Given the description of an element on the screen output the (x, y) to click on. 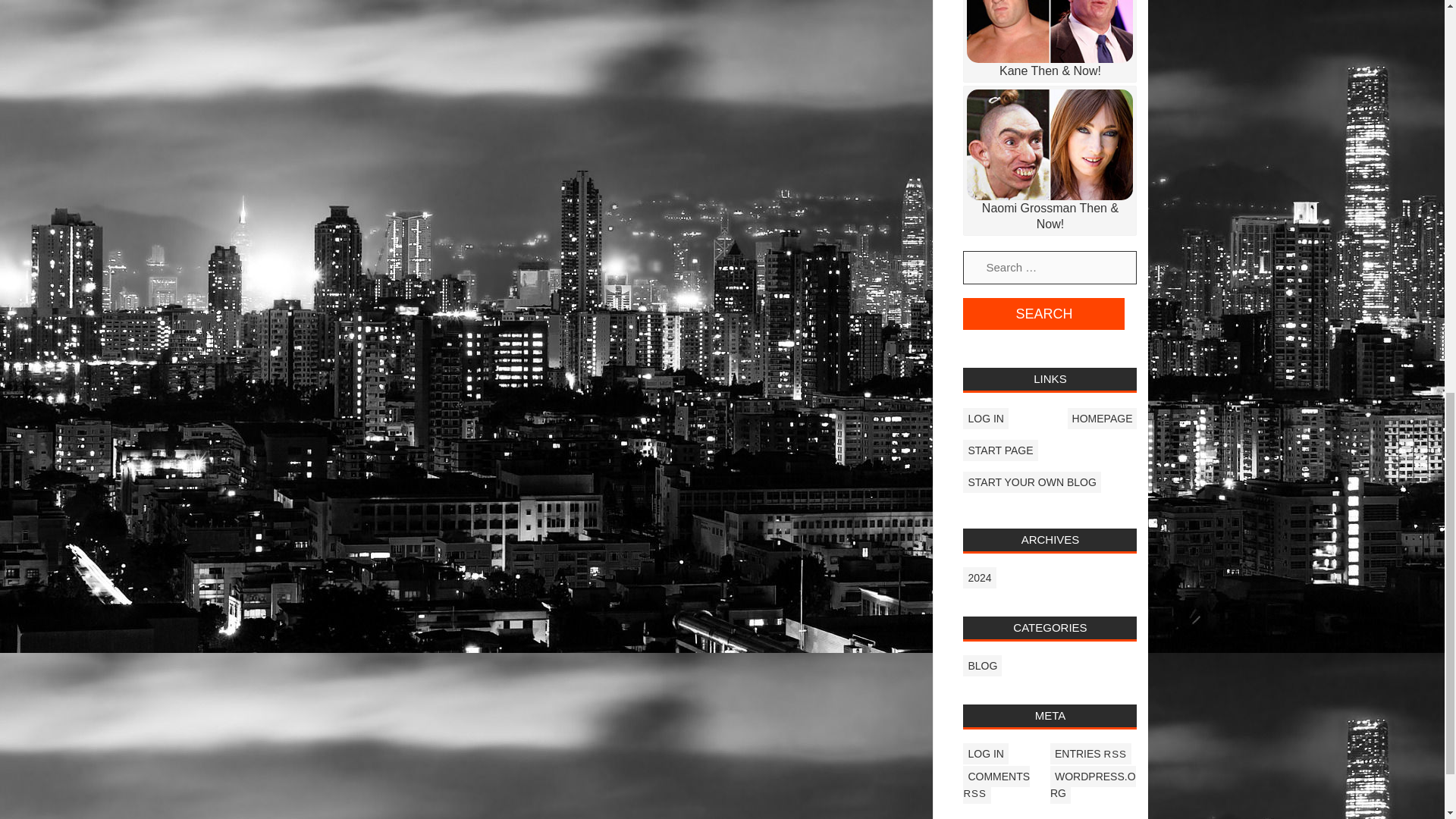
Search (1043, 314)
Really Simple Syndication (1114, 754)
Search (1043, 314)
LOG IN (984, 418)
Really Simple Syndication (973, 793)
WORDPRESS.ORG (1092, 784)
COMMENTS RSS (995, 784)
BLOG (981, 665)
2024 (978, 577)
LOG IN (984, 753)
START PAGE (999, 450)
HOMEPAGE (1102, 418)
ENTRIES RSS (1090, 753)
START YOUR OWN BLOG (1031, 482)
